Given the description of an element on the screen output the (x, y) to click on. 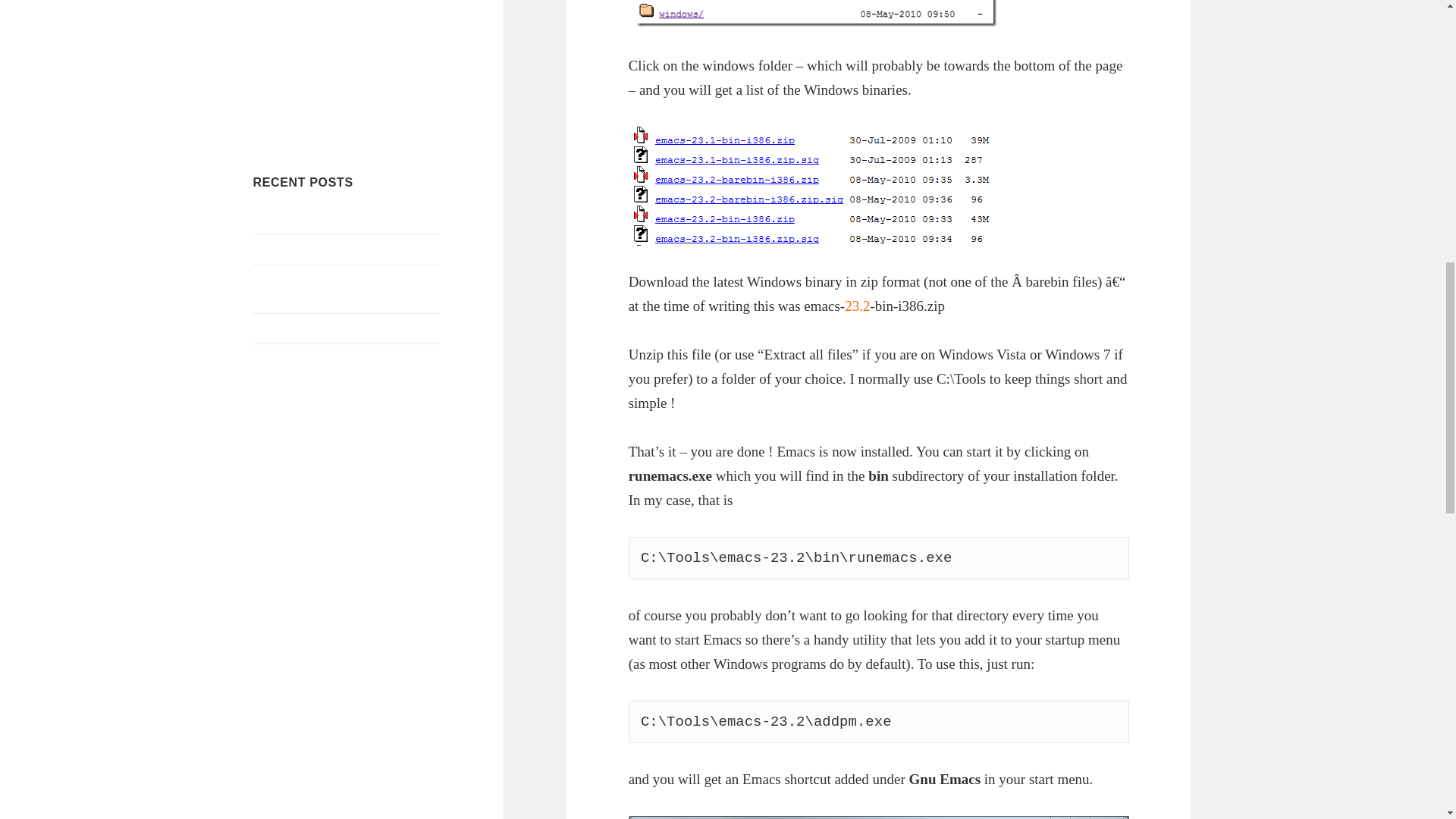
image (815, 13)
